Given the description of an element on the screen output the (x, y) to click on. 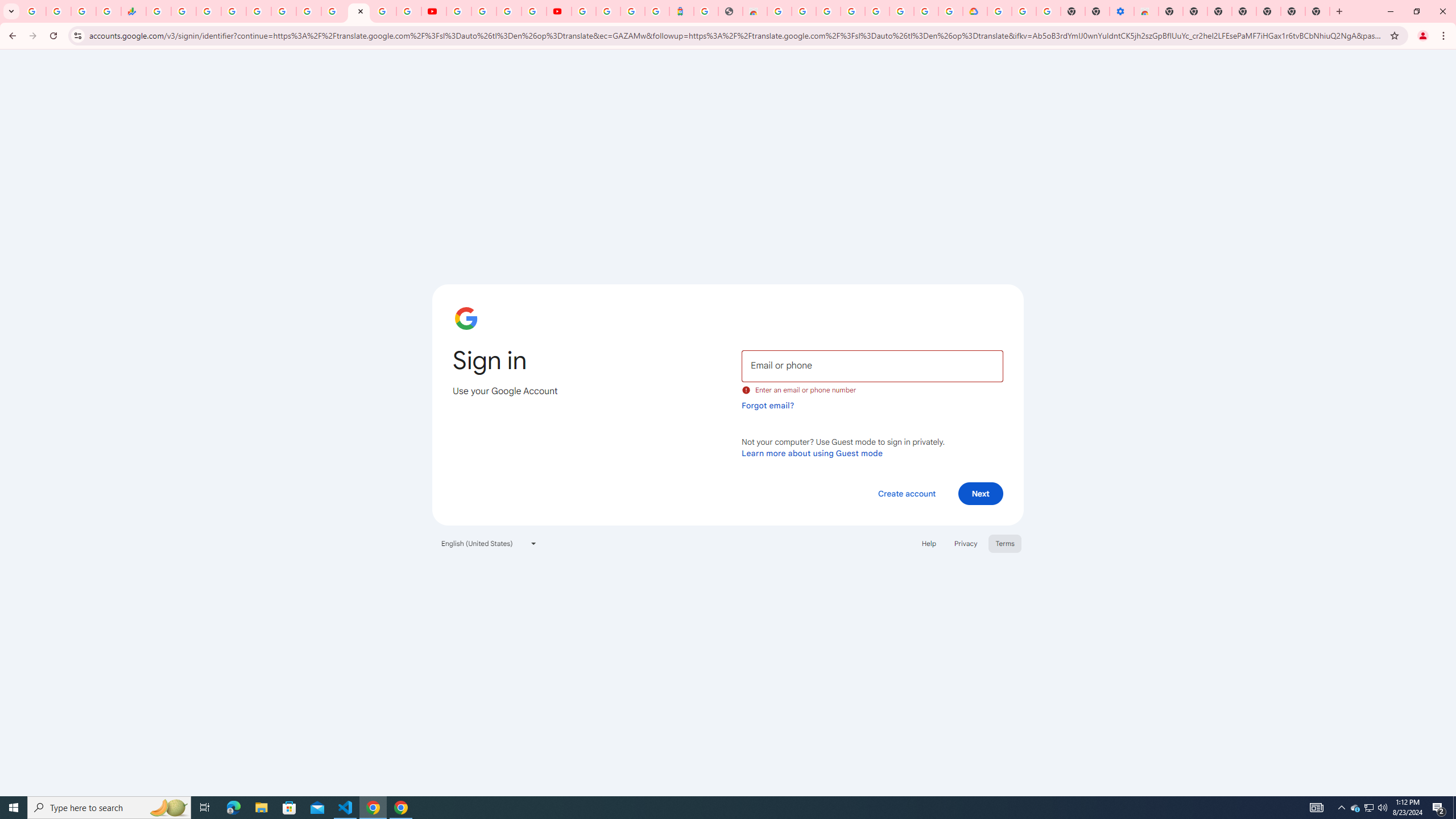
Forgot email? (767, 404)
New Tab (1170, 11)
Create your Google Account (509, 11)
Google Account Help (1023, 11)
Sign in - Google Accounts (827, 11)
Atour Hotel - Google hotels (680, 11)
